Given the description of an element on the screen output the (x, y) to click on. 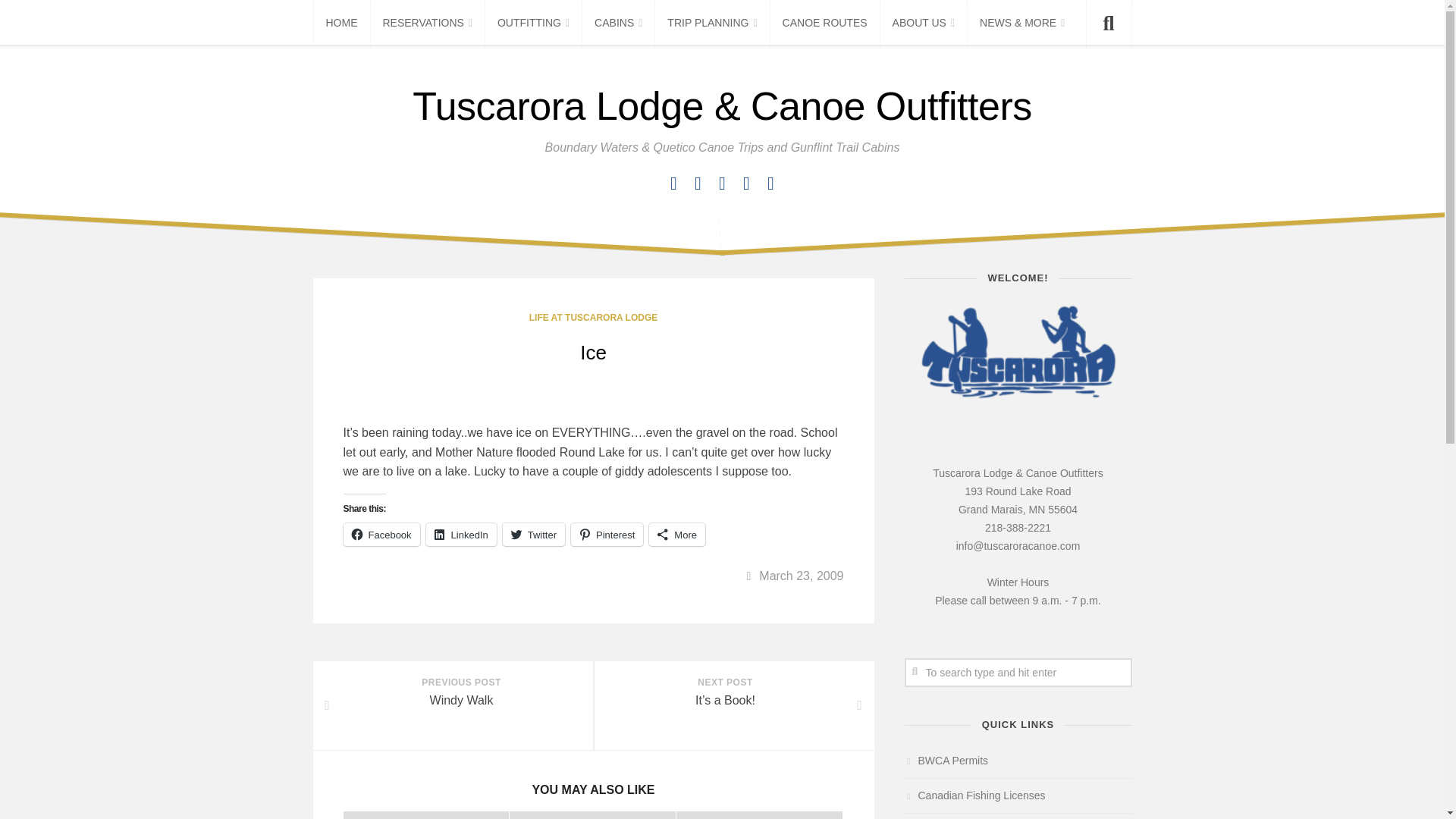
Click to share on Facebook (380, 534)
Instagram (721, 183)
Pinterest (745, 183)
Click to share on Twitter (533, 534)
Click to share on LinkedIn (461, 534)
Contact Us (697, 183)
Purchase you fishing licenses for Canada  here (974, 795)
To search type and hit enter (1017, 672)
To search type and hit enter (1017, 672)
